Given the description of an element on the screen output the (x, y) to click on. 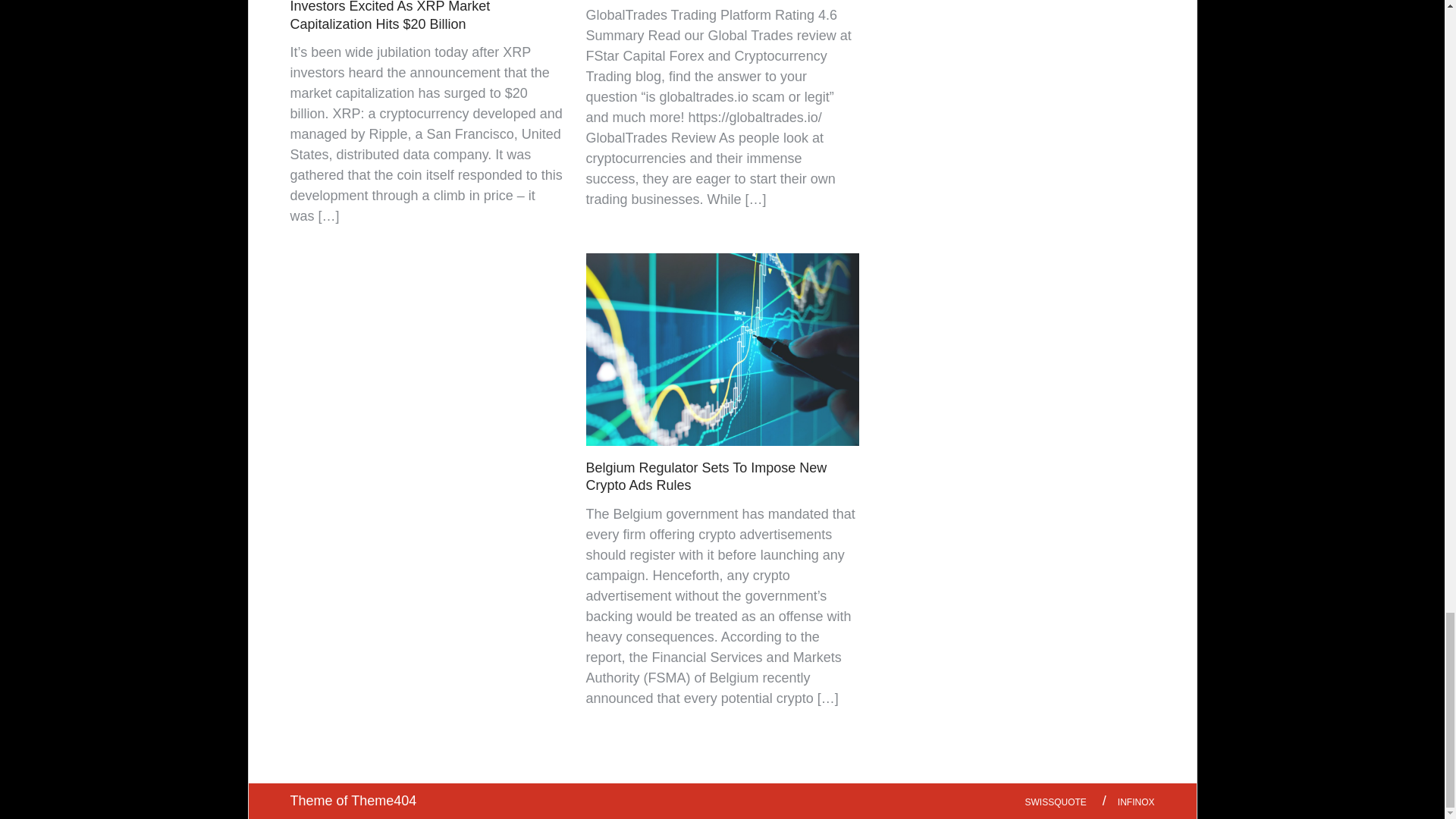
SWISSQUOTE (1055, 801)
Theme404 (383, 800)
Belgium Regulator Sets To Impose New Crypto Ads Rules (706, 476)
INFINOX (1136, 801)
